Given the description of an element on the screen output the (x, y) to click on. 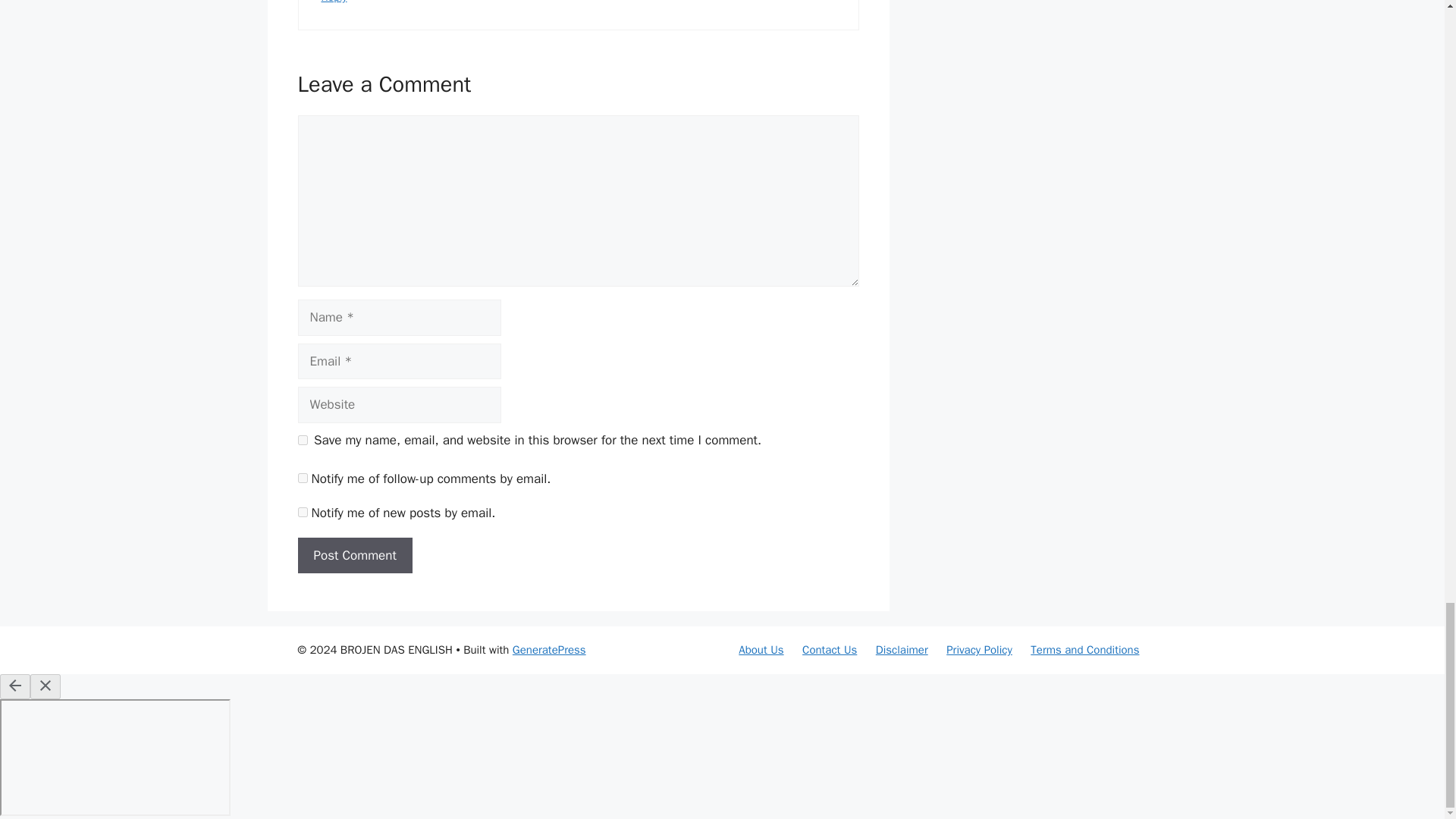
subscribe (302, 478)
subscribe (302, 511)
Post Comment (354, 555)
yes (302, 439)
